Given the description of an element on the screen output the (x, y) to click on. 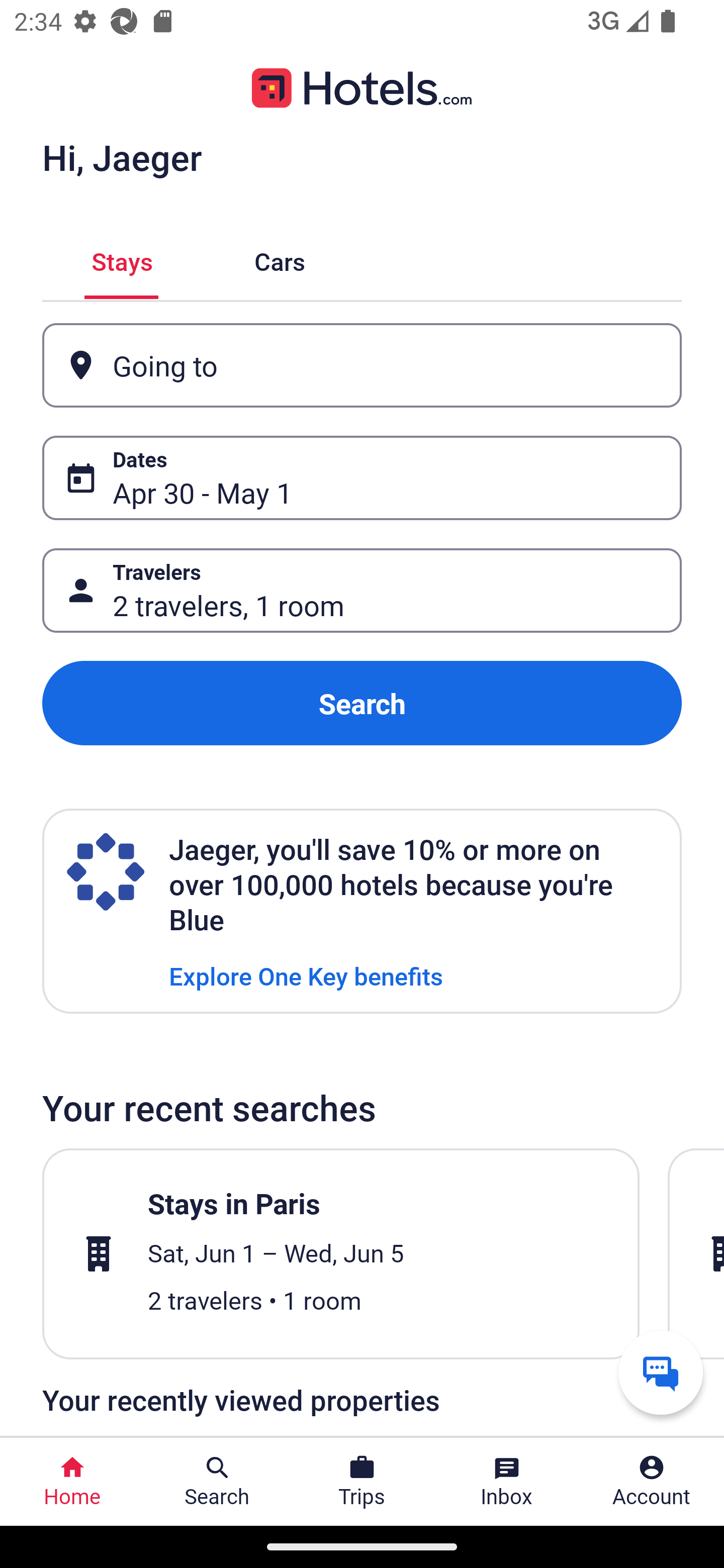
Hi, Jaeger (121, 156)
Cars (279, 259)
Going to Button (361, 365)
Dates Button Apr 30 - May 1 (361, 477)
Travelers Button 2 travelers, 1 room (361, 590)
Search (361, 702)
Get help from a virtual agent (660, 1371)
Search Search Button (216, 1481)
Trips Trips Button (361, 1481)
Inbox Inbox Button (506, 1481)
Account Profile. Button (651, 1481)
